Given the description of an element on the screen output the (x, y) to click on. 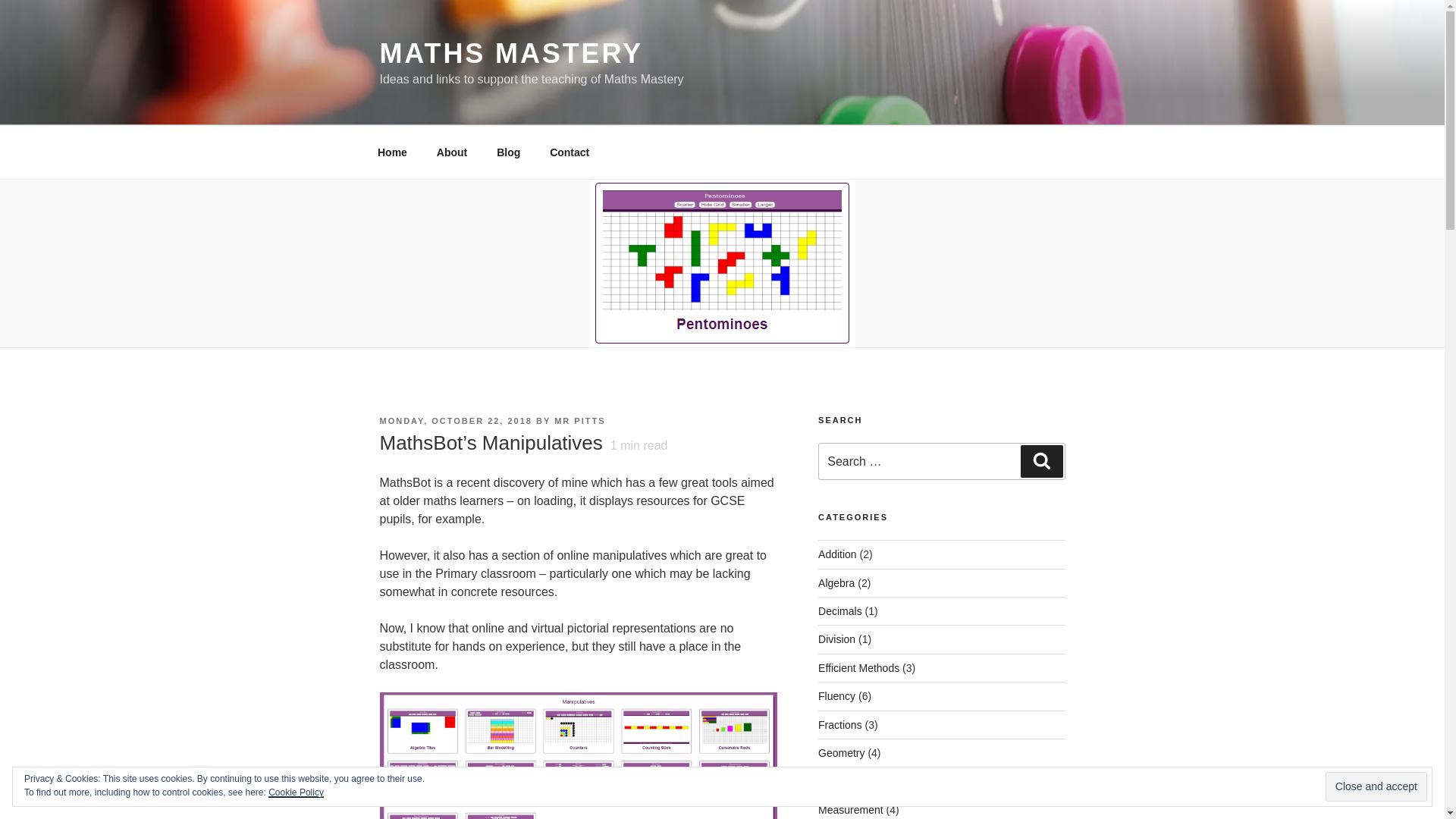
MR PITTS (579, 420)
About (451, 151)
Home (392, 151)
Close and accept (1375, 786)
Contact (569, 151)
Blog (508, 151)
MONDAY, OCTOBER 22, 2018 (454, 420)
MATHS MASTERY (510, 52)
